Given the description of an element on the screen output the (x, y) to click on. 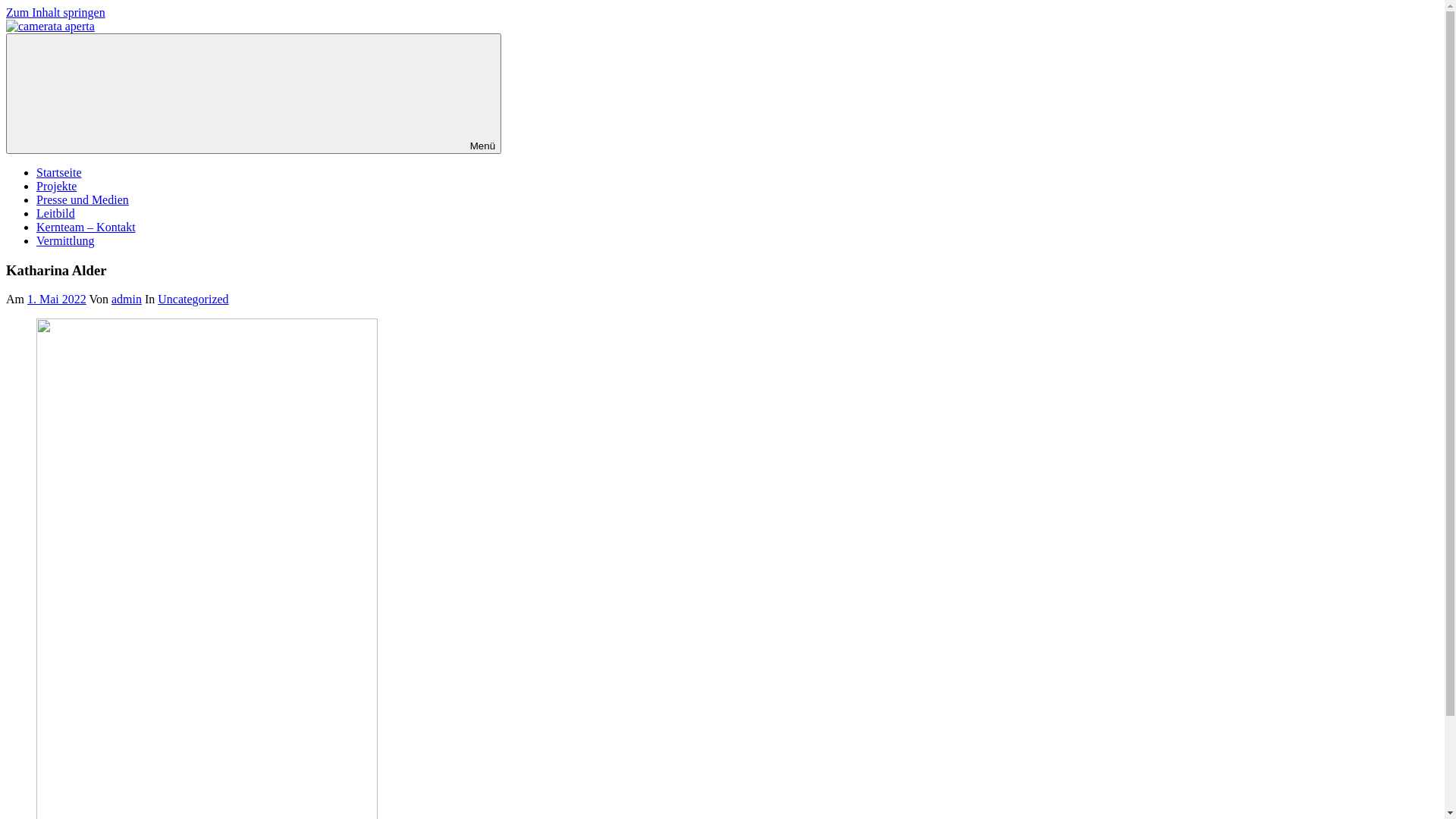
Presse und Medien Element type: text (82, 199)
Uncategorized Element type: text (192, 298)
Leitbild Element type: text (55, 213)
camerata aperta Element type: text (28, 58)
Vermittlung Element type: text (65, 240)
Startseite Element type: text (58, 172)
Zum Inhalt springen Element type: text (55, 12)
Projekte Element type: text (56, 185)
1. Mai 2022 Element type: text (56, 298)
admin Element type: text (126, 298)
